Given the description of an element on the screen output the (x, y) to click on. 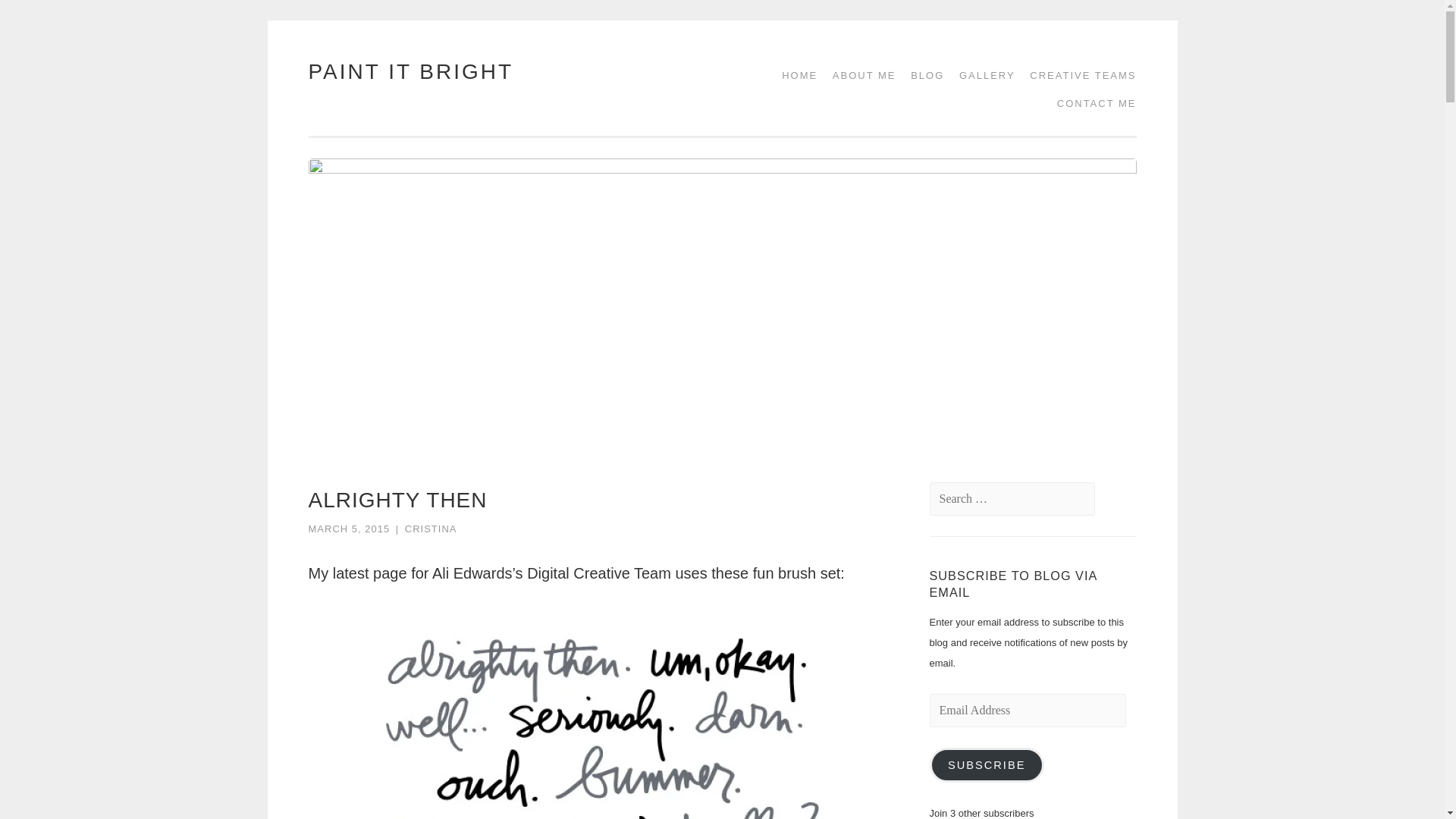
Search (42, 16)
HOME (793, 75)
SUBSCRIBE (986, 764)
BLOG (921, 75)
CRISTINA (430, 528)
CONTACT ME (1091, 103)
PAINT IT BRIGHT (410, 71)
MARCH 5, 2015 (348, 528)
ABOUT ME (859, 75)
CREATIVE TEAMS (1077, 75)
GALLERY (981, 75)
